Given the description of an element on the screen output the (x, y) to click on. 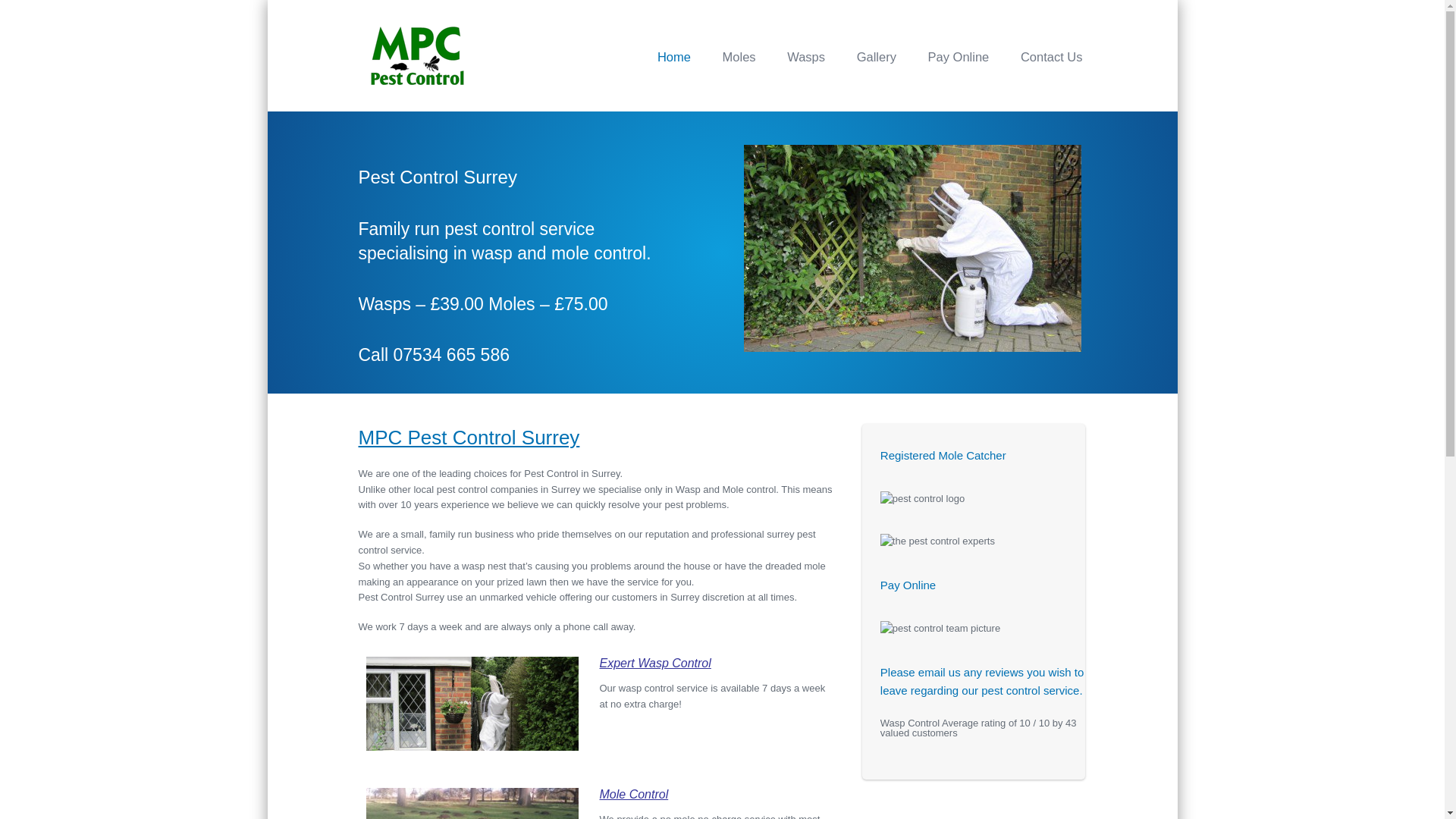
Pay Online (958, 55)
Moles (739, 55)
Gallery (876, 55)
Wasps (805, 55)
Home (673, 55)
Contact Us (1051, 55)
